Given the description of an element on the screen output the (x, y) to click on. 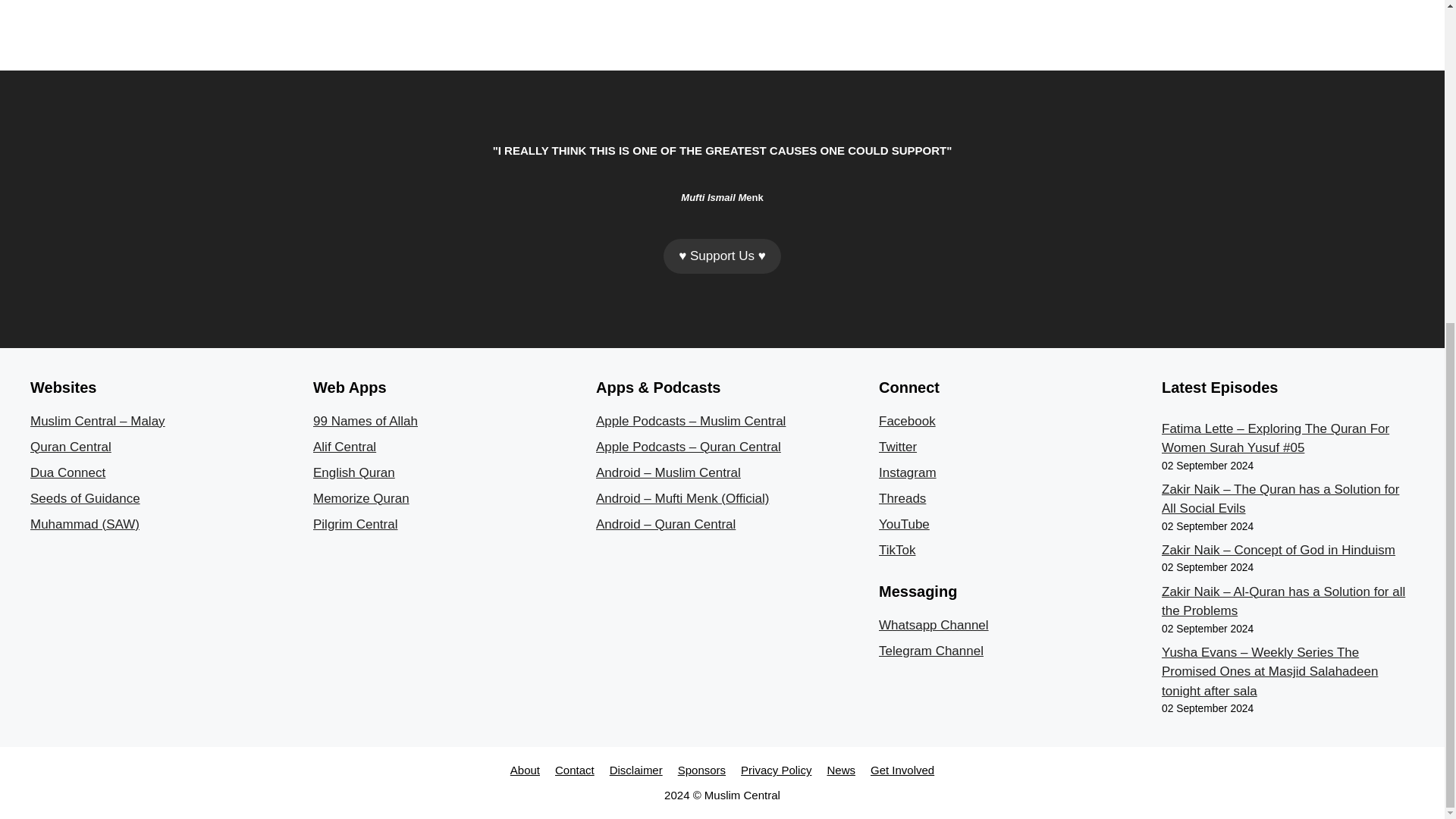
Dua Connect (67, 472)
Pilgrim Central (355, 523)
Facebook (907, 421)
99 Names of Allah (365, 421)
Quran Central (71, 446)
Alif Central (344, 446)
English Quran (353, 472)
Memorize Quran (361, 498)
Seeds of Guidance (84, 498)
